Given the description of an element on the screen output the (x, y) to click on. 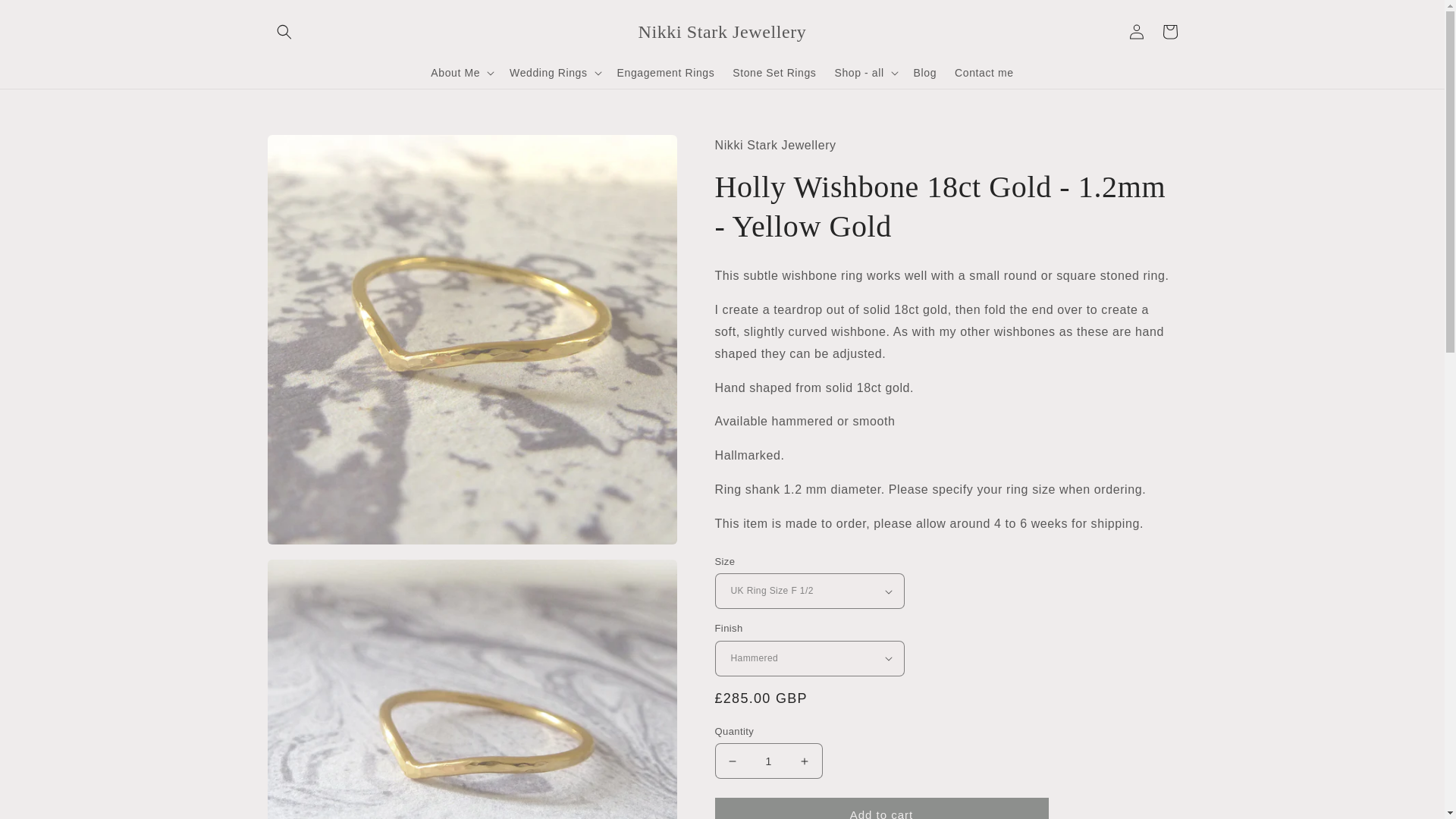
Skip to content (45, 16)
Nikki Stark Jewellery (721, 30)
1 (768, 760)
